Given the description of an element on the screen output the (x, y) to click on. 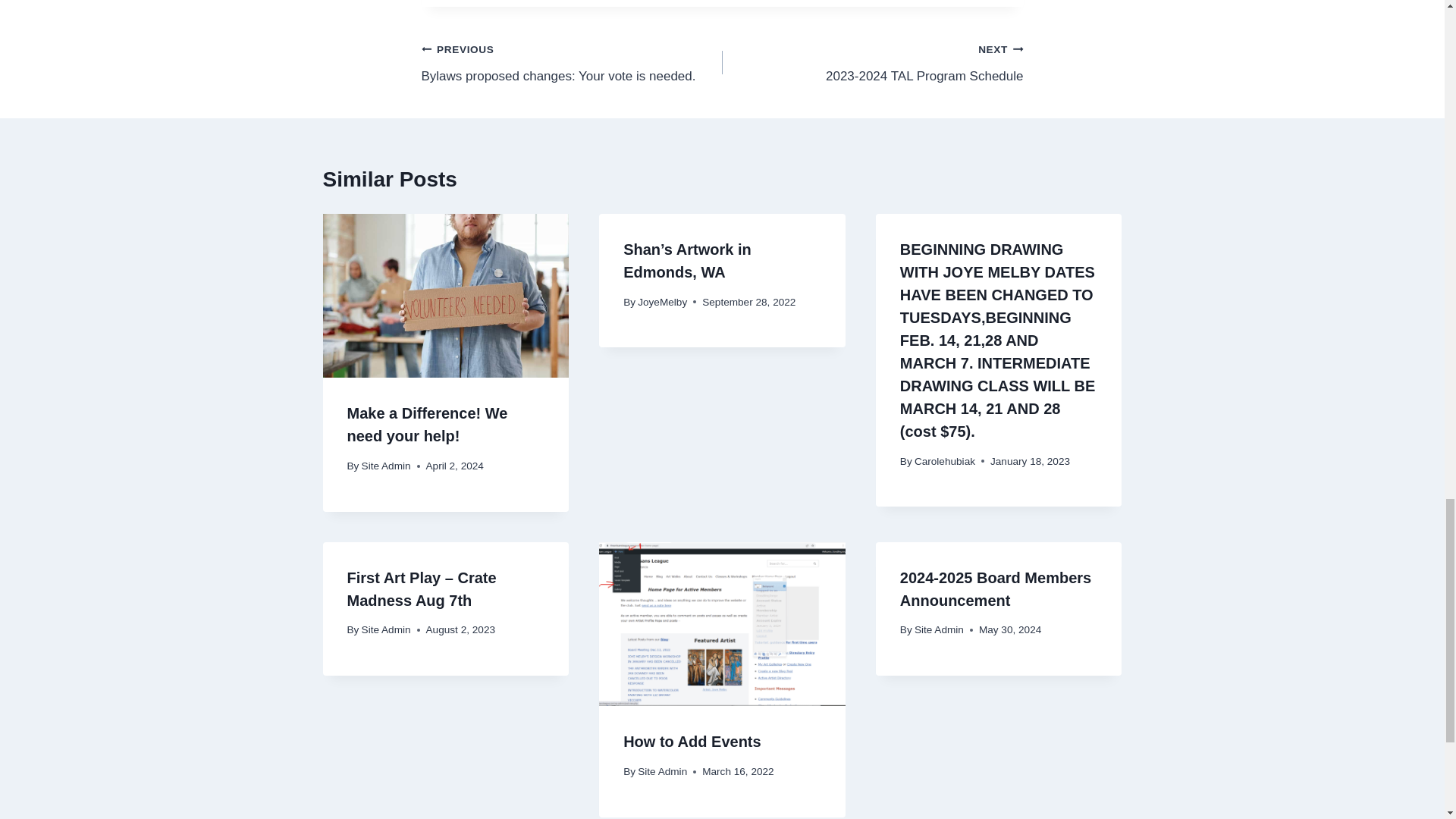
Make a Difference! We need your help! (427, 424)
JoyeMelby (662, 301)
Site Admin (385, 465)
Site Admin (572, 62)
Carolehubiak (872, 62)
